Given the description of an element on the screen output the (x, y) to click on. 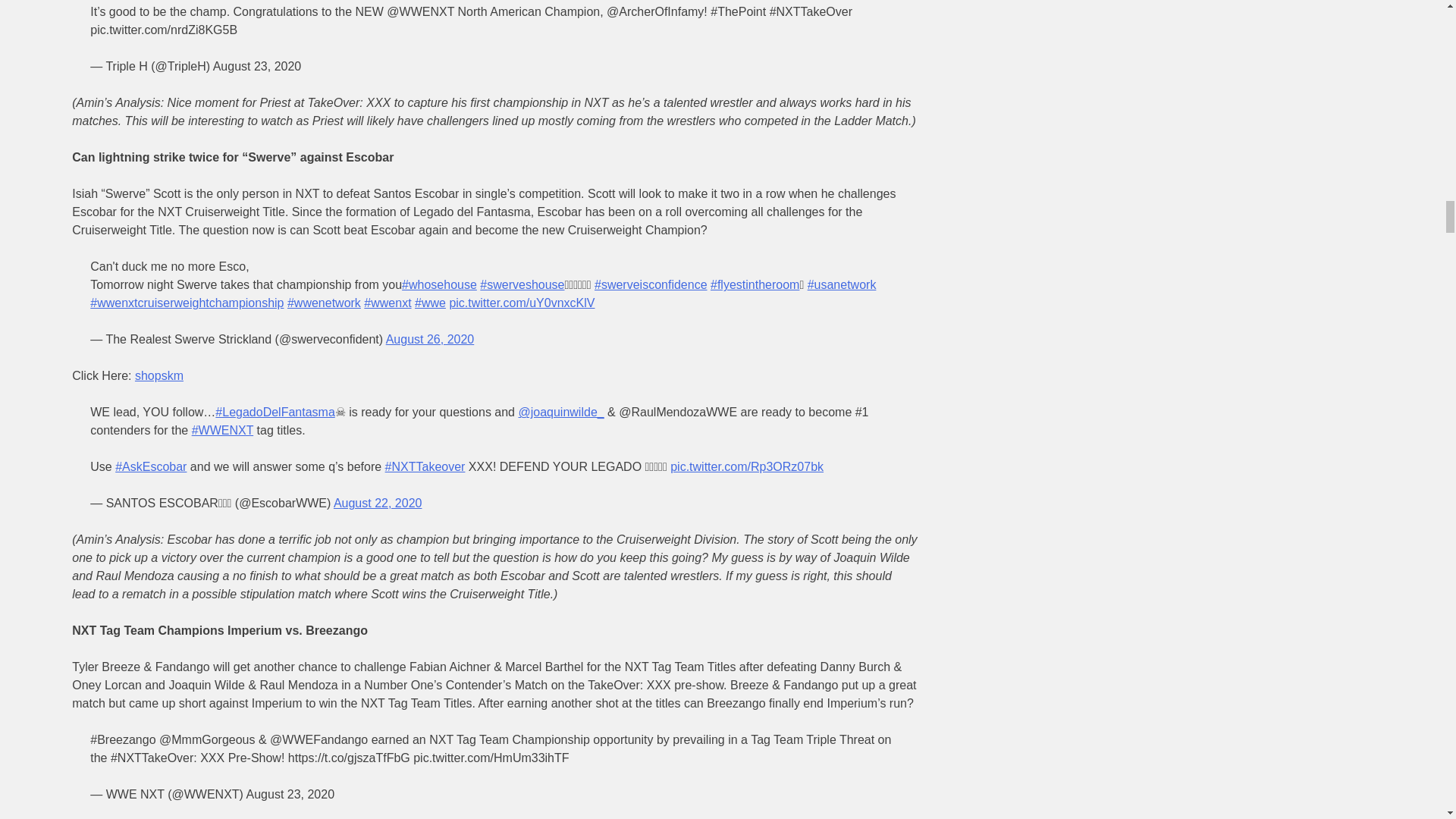
shopskm (159, 375)
